Given the description of an element on the screen output the (x, y) to click on. 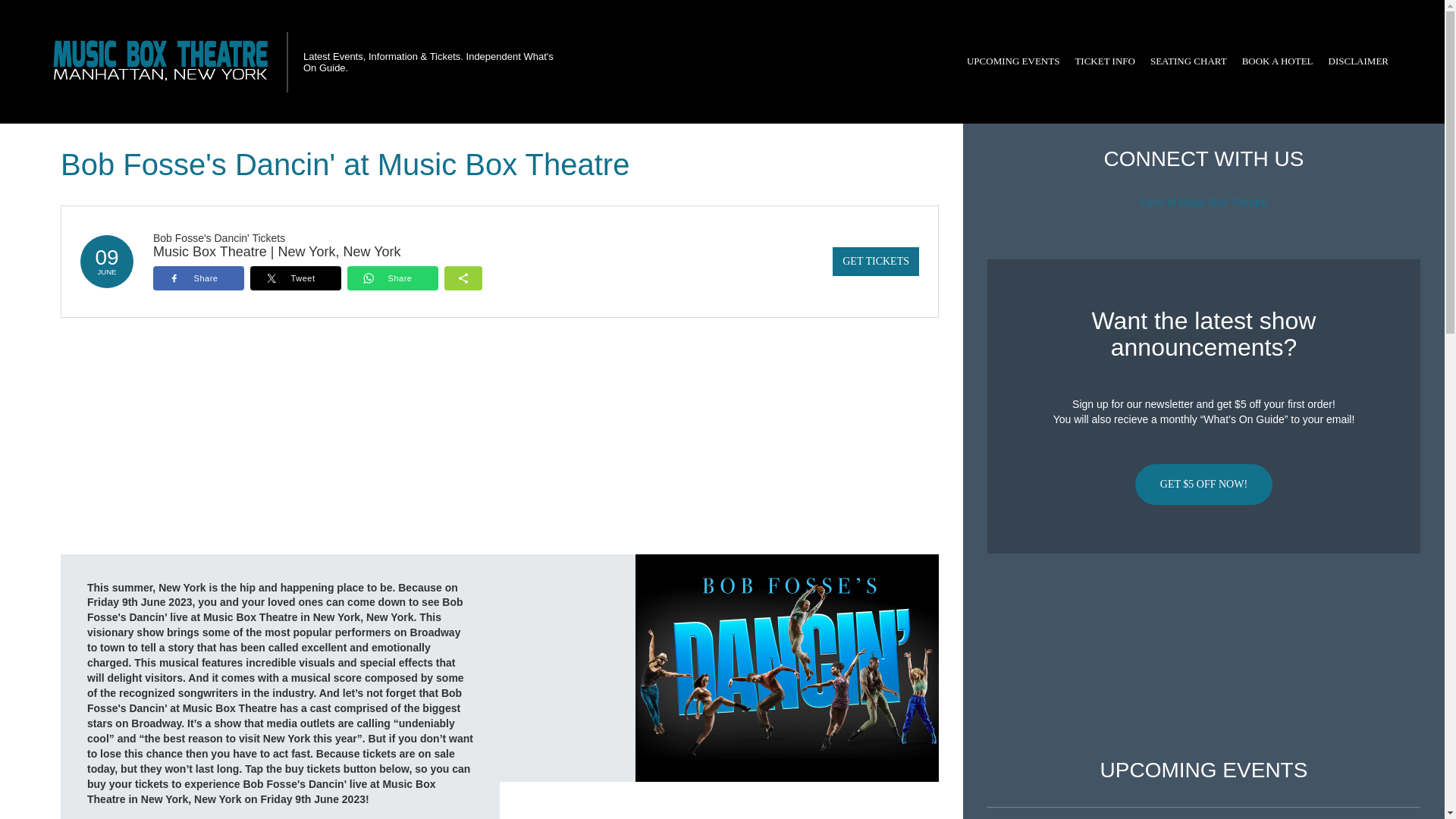
UPCOMING EVENTS (1013, 61)
BOOK A HOTEL (1277, 61)
TICKET INFO (1104, 61)
Fans of Music Box Theatre (1203, 202)
DISCLAIMER (1358, 61)
Bob Fosse's Dancin' at Music Box Theatre (786, 667)
Bob Fosse's Dancin' Tickets (218, 237)
Advertisement (1204, 655)
SEATING CHART (1188, 61)
GET TICKETS (875, 261)
